Given the description of an element on the screen output the (x, y) to click on. 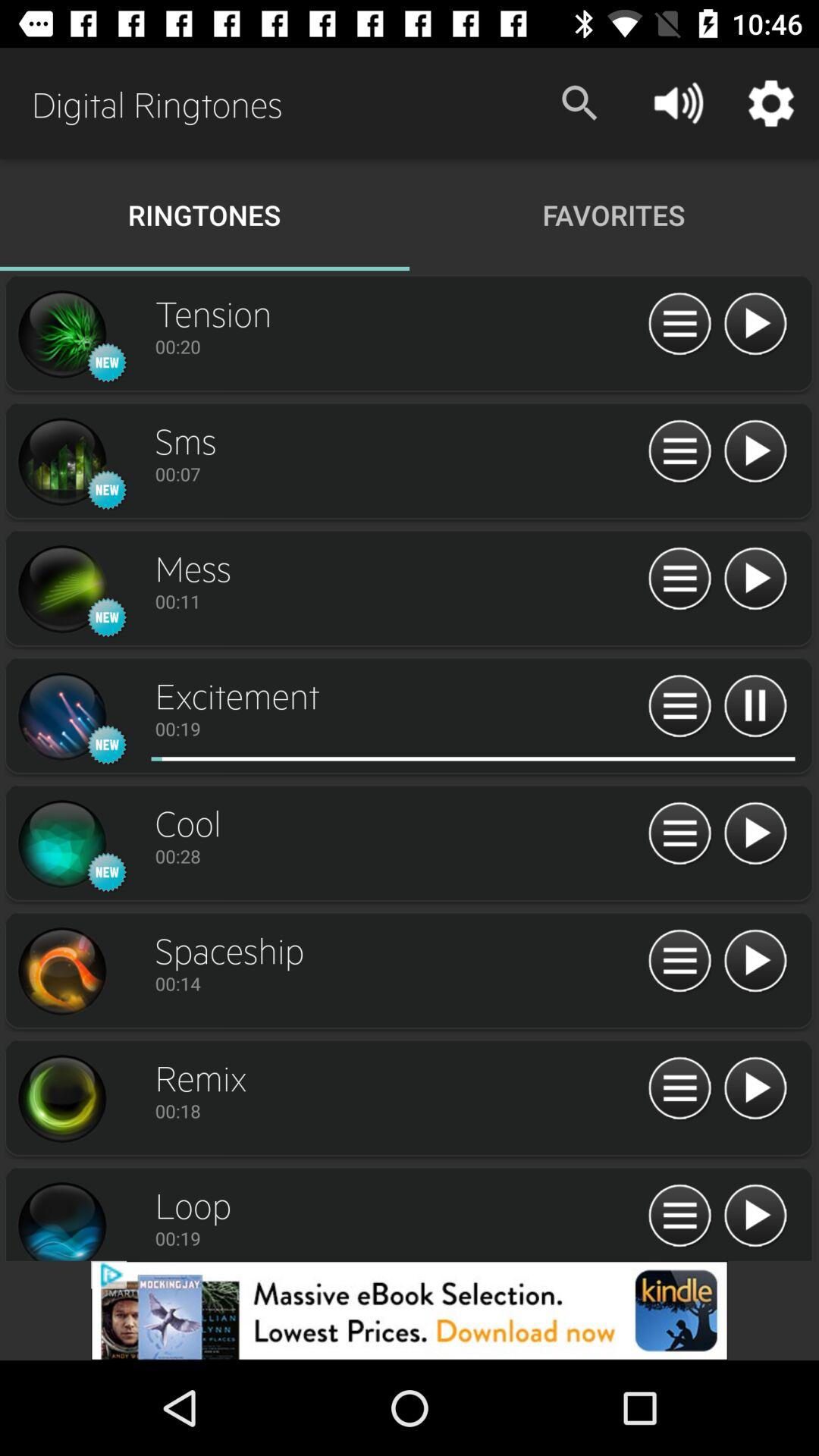
loop (61, 1219)
